Given the description of an element on the screen output the (x, y) to click on. 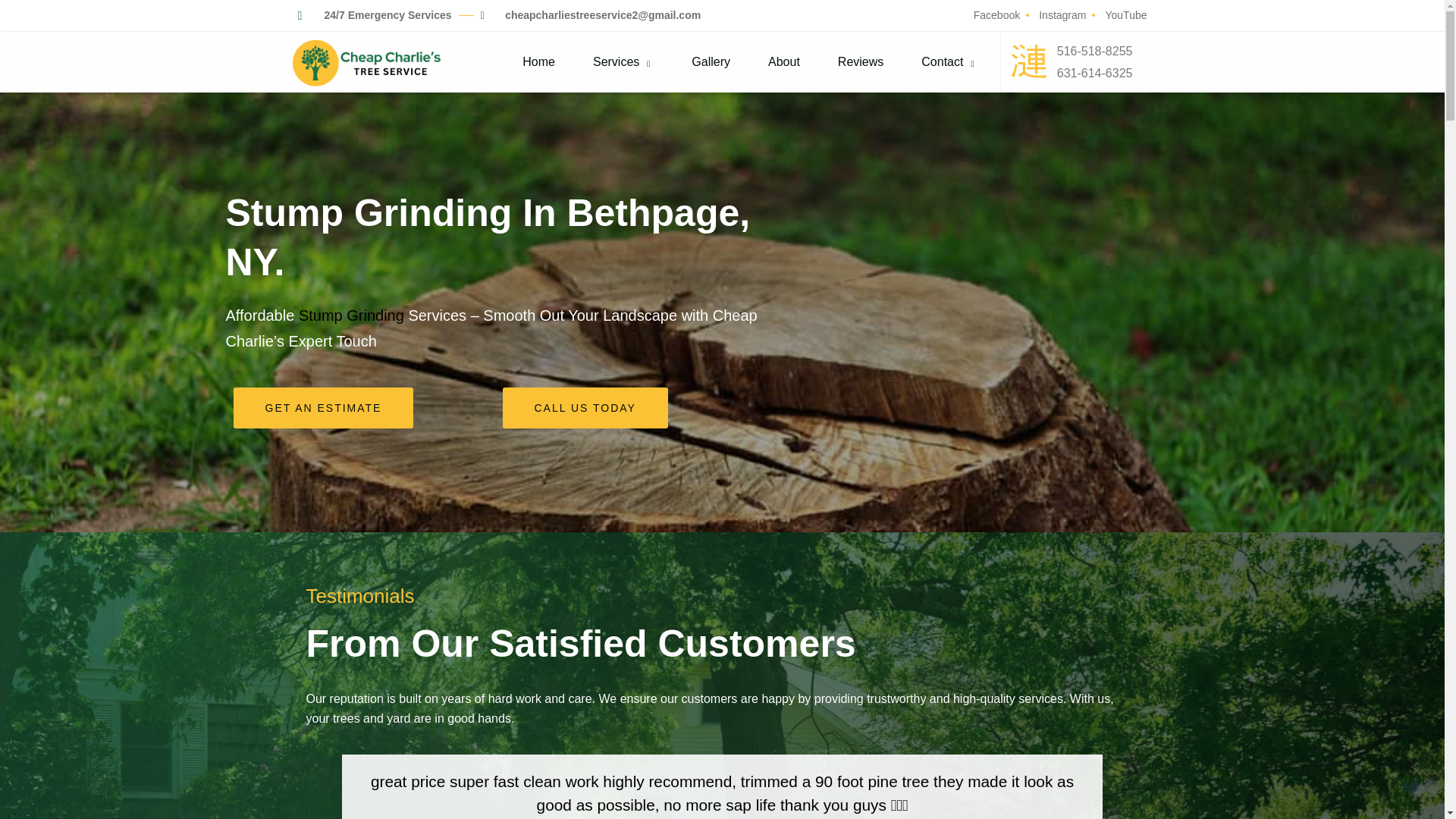
About (787, 61)
Gallery (714, 61)
Facebook (994, 15)
631-614-6325 (1104, 72)
Contact (952, 61)
Home (542, 61)
Stump Grinding (351, 315)
Instagram (1060, 15)
Reviews (863, 61)
CALL US TODAY (584, 407)
516-518-8255 (1104, 51)
YouTube (1123, 15)
Services (627, 61)
GET AN ESTIMATE (322, 407)
Stump Grinding (351, 315)
